Given the description of an element on the screen output the (x, y) to click on. 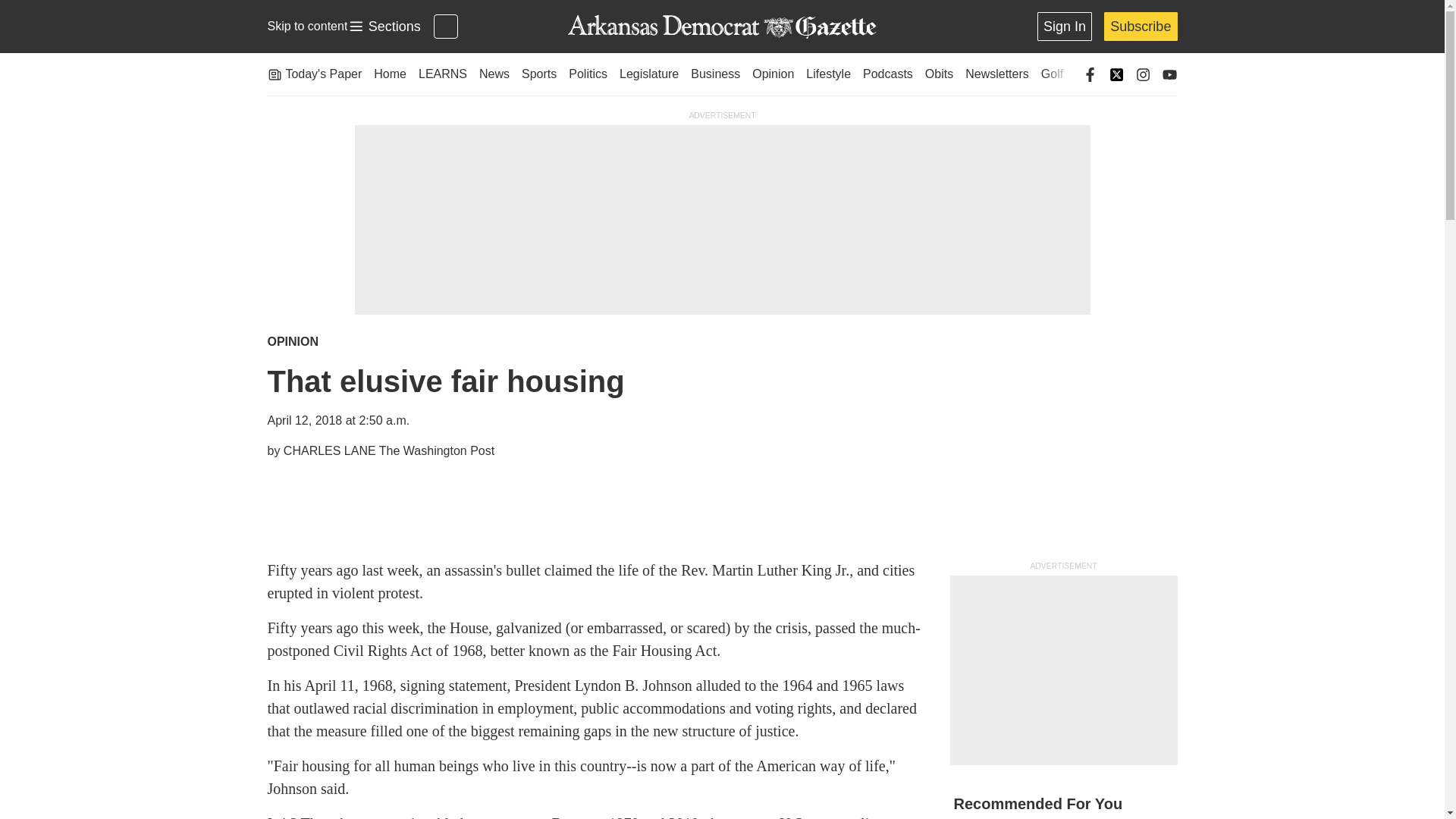
Skip to content (306, 26)
3rd party ad content (1062, 669)
Arkansas Democrat Gazette (383, 26)
